Given the description of an element on the screen output the (x, y) to click on. 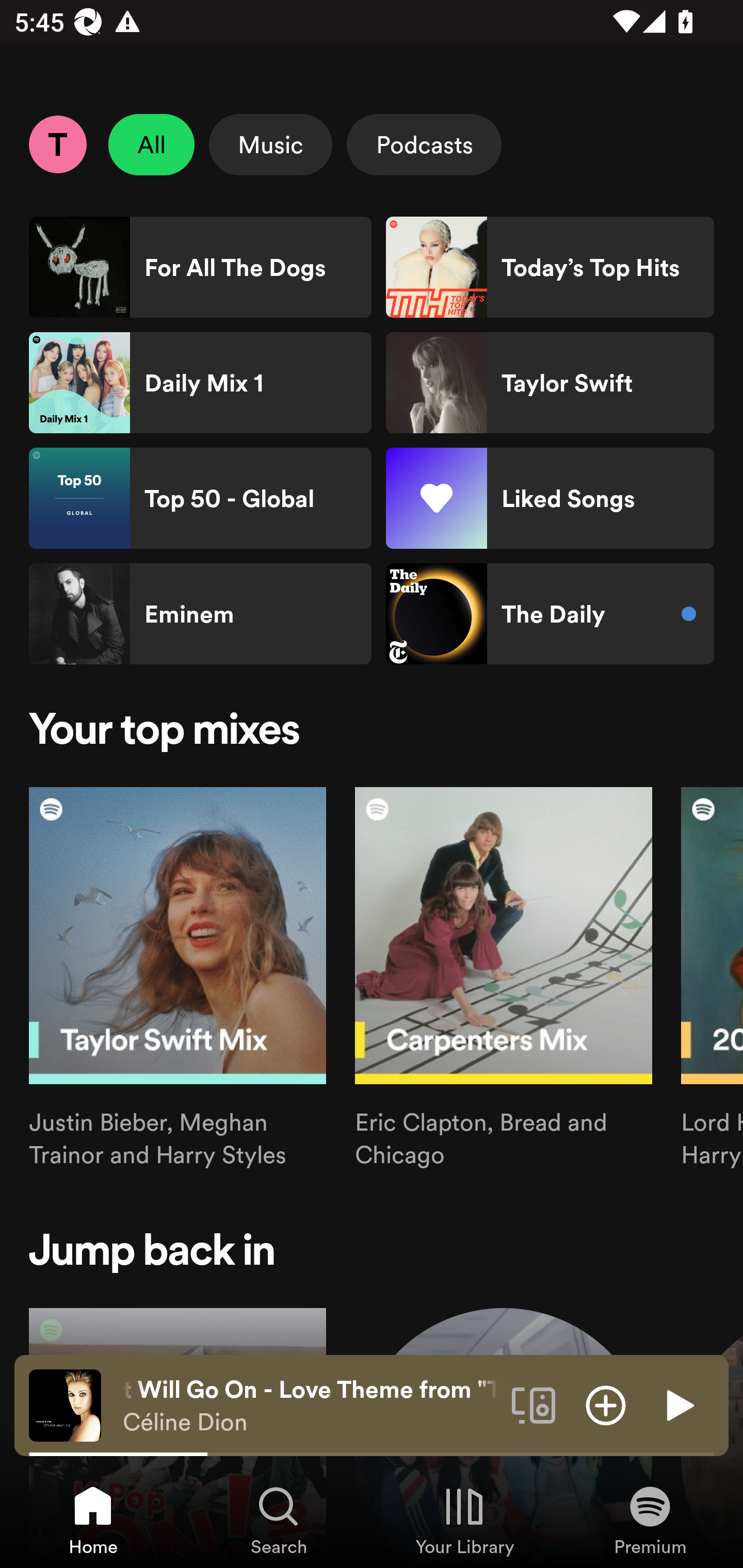
Profile (57, 144)
All Unselect All (151, 144)
Music Select Music (270, 144)
Podcasts Select Podcasts (423, 144)
For All The Dogs Shortcut For All The Dogs (199, 267)
Today’s Top Hits Shortcut Today’s Top Hits (549, 267)
Daily Mix 1 Shortcut Daily Mix 1 (199, 382)
Taylor Swift Shortcut Taylor Swift (549, 382)
Top 50 - Global Shortcut Top 50 - Global (199, 498)
Liked Songs Shortcut Liked Songs (549, 498)
Eminem Shortcut Eminem (199, 613)
The Daily Shortcut The Daily New content (549, 613)
The cover art of the currently playing track (64, 1404)
Connect to a device. Opens the devices menu (533, 1404)
Add item (605, 1404)
Play (677, 1404)
Home, Tab 1 of 4 Home Home (92, 1519)
Search, Tab 2 of 4 Search Search (278, 1519)
Your Library, Tab 3 of 4 Your Library Your Library (464, 1519)
Premium, Tab 4 of 4 Premium Premium (650, 1519)
